Given the description of an element on the screen output the (x, y) to click on. 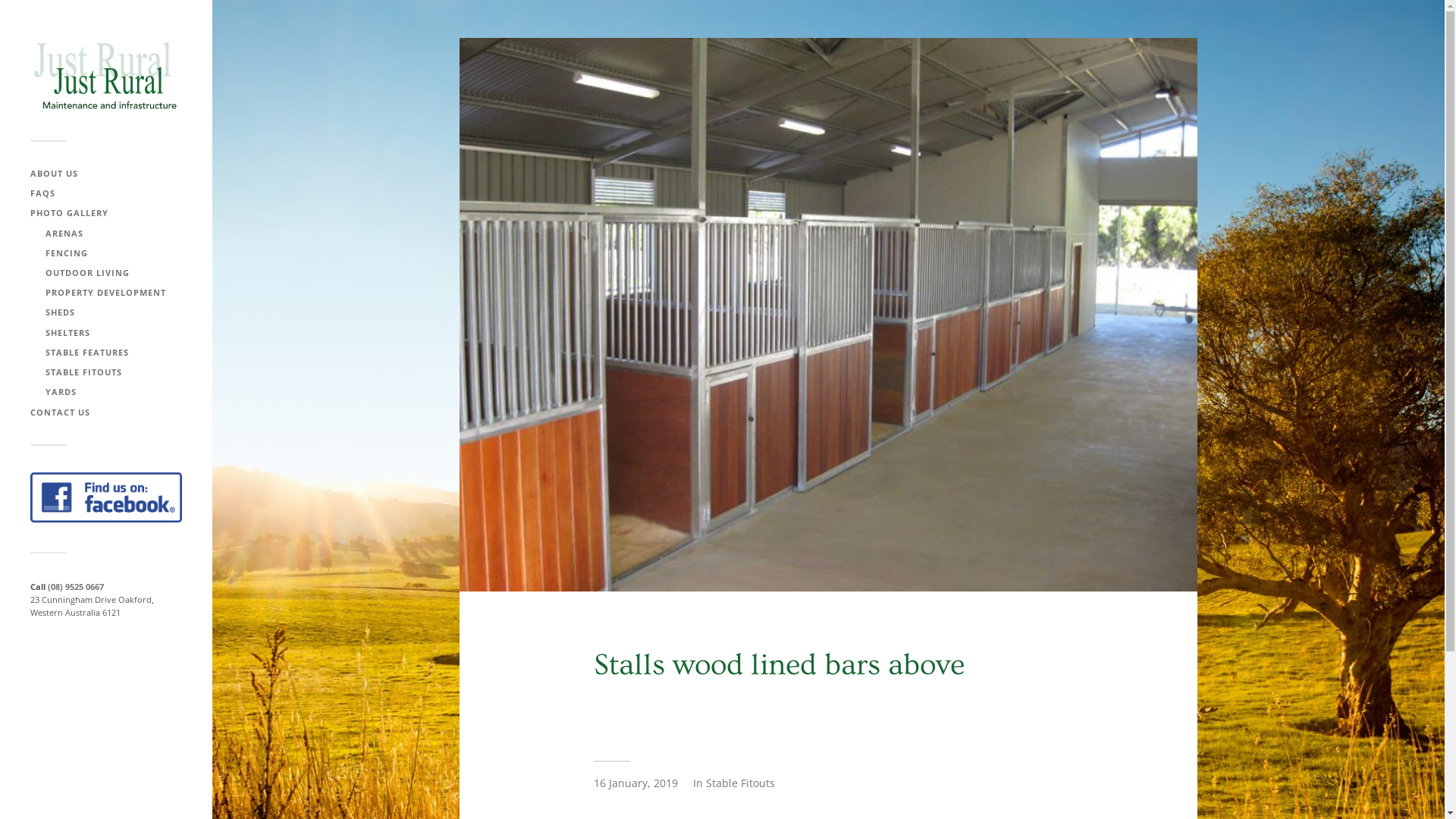
Stable Fitouts Element type: text (739, 782)
OUTDOOR LIVING Element type: text (87, 272)
STABLE FITOUTS Element type: text (83, 371)
STABLE FEATURES Element type: text (86, 351)
SHEDS Element type: text (60, 311)
ARENAS Element type: text (64, 232)
(08) 9525 0667 Element type: text (75, 586)
16 January, 2019 Element type: text (635, 782)
YARDS Element type: text (60, 391)
PHOTO GALLERY Element type: text (69, 212)
FAQS Element type: text (42, 192)
CONTACT US Element type: text (60, 411)
ABOUT US Element type: text (54, 172)
FENCING Element type: text (66, 252)
PROPERTY DEVELOPMENT Element type: text (105, 292)
SHELTERS Element type: text (67, 331)
